Given the description of an element on the screen output the (x, y) to click on. 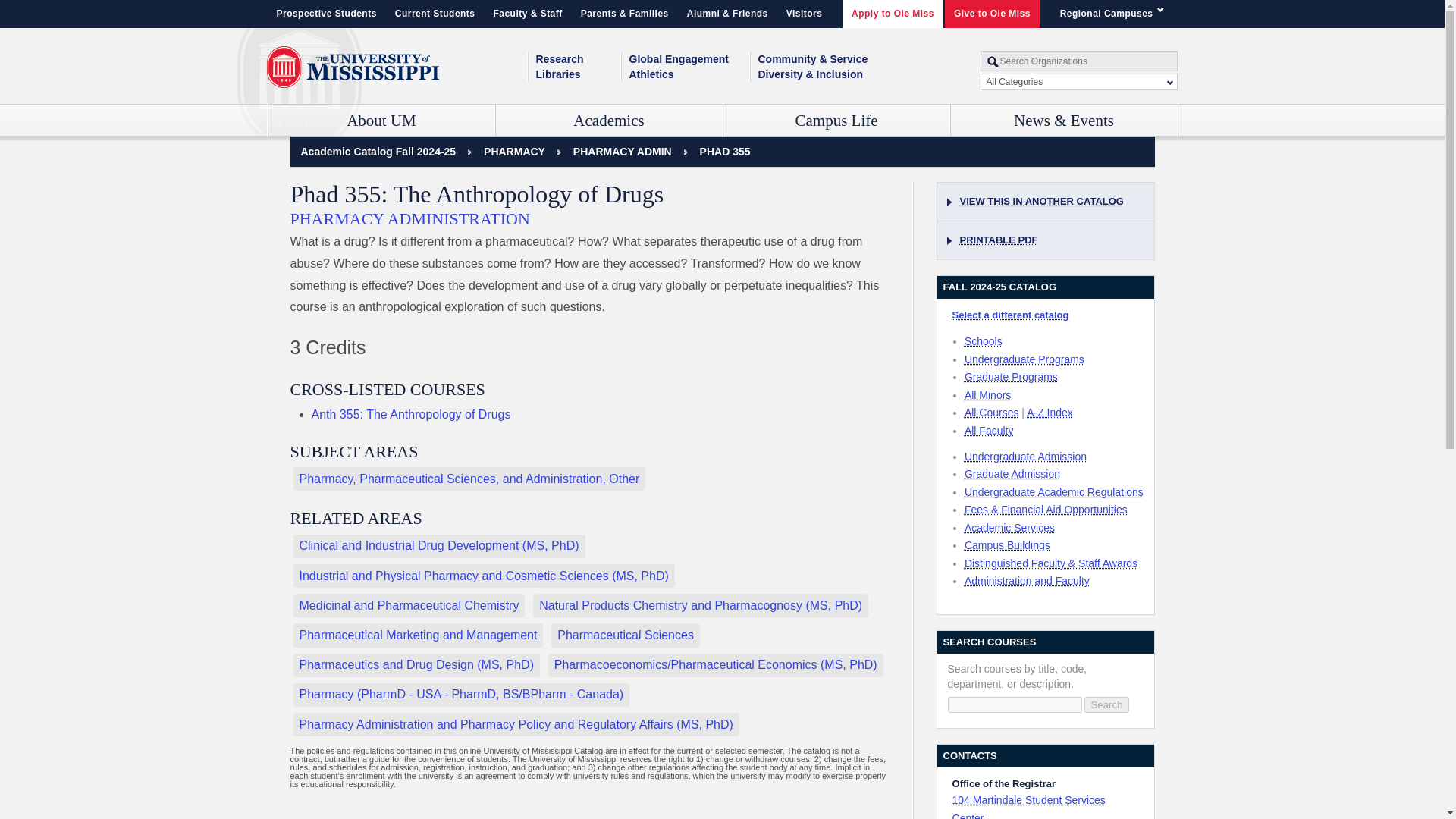
Pharmacy Administration (622, 151)
Give to Ole Miss (991, 13)
Catalog home page (377, 151)
Search (1106, 704)
Academics (609, 120)
Campus Life (836, 120)
Athletics (688, 73)
Visitors (804, 13)
Regional Campuses (1114, 13)
Current Students (434, 13)
